Given the description of an element on the screen output the (x, y) to click on. 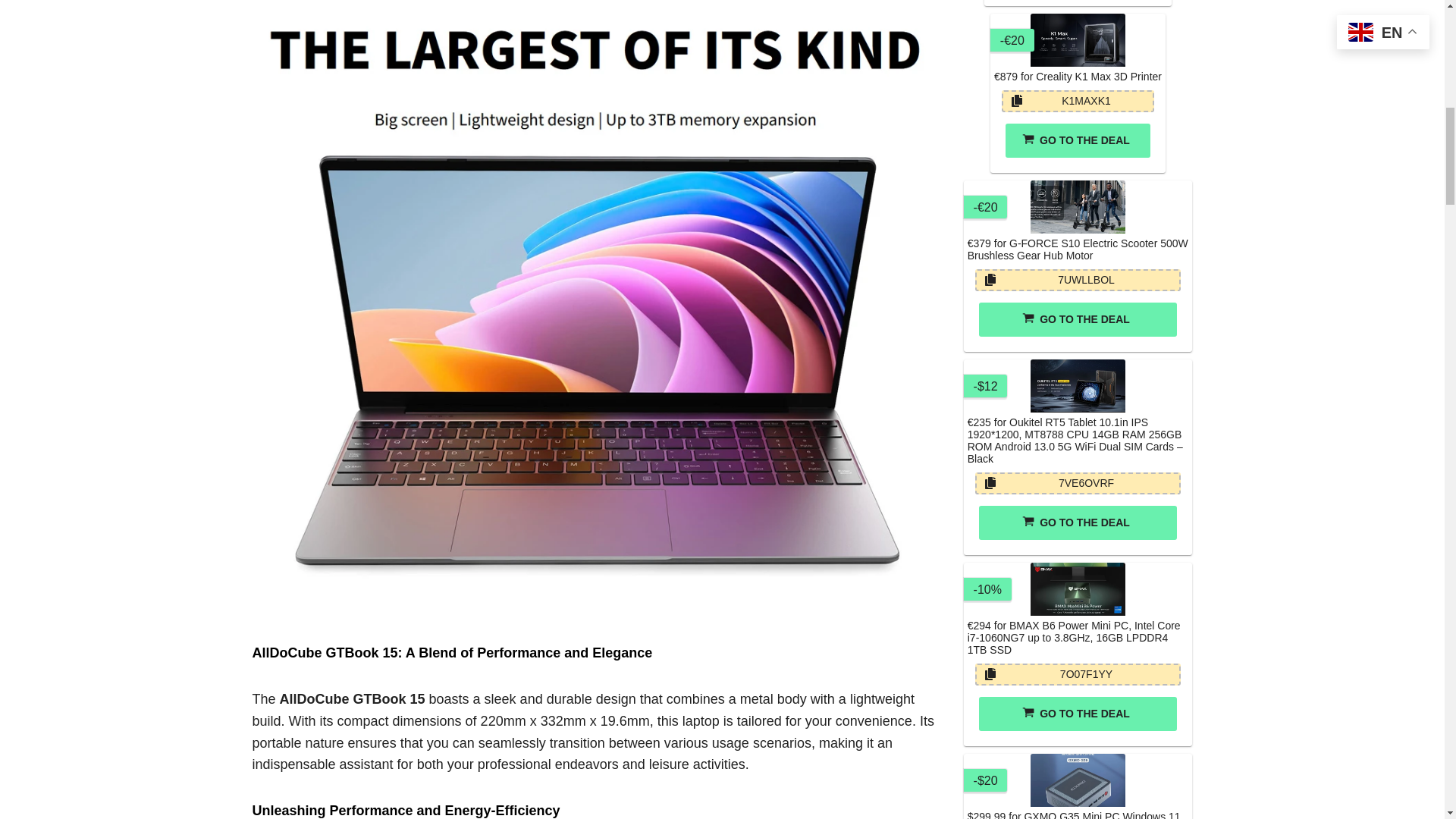
Go to the deal (1078, 140)
